Given the description of an element on the screen output the (x, y) to click on. 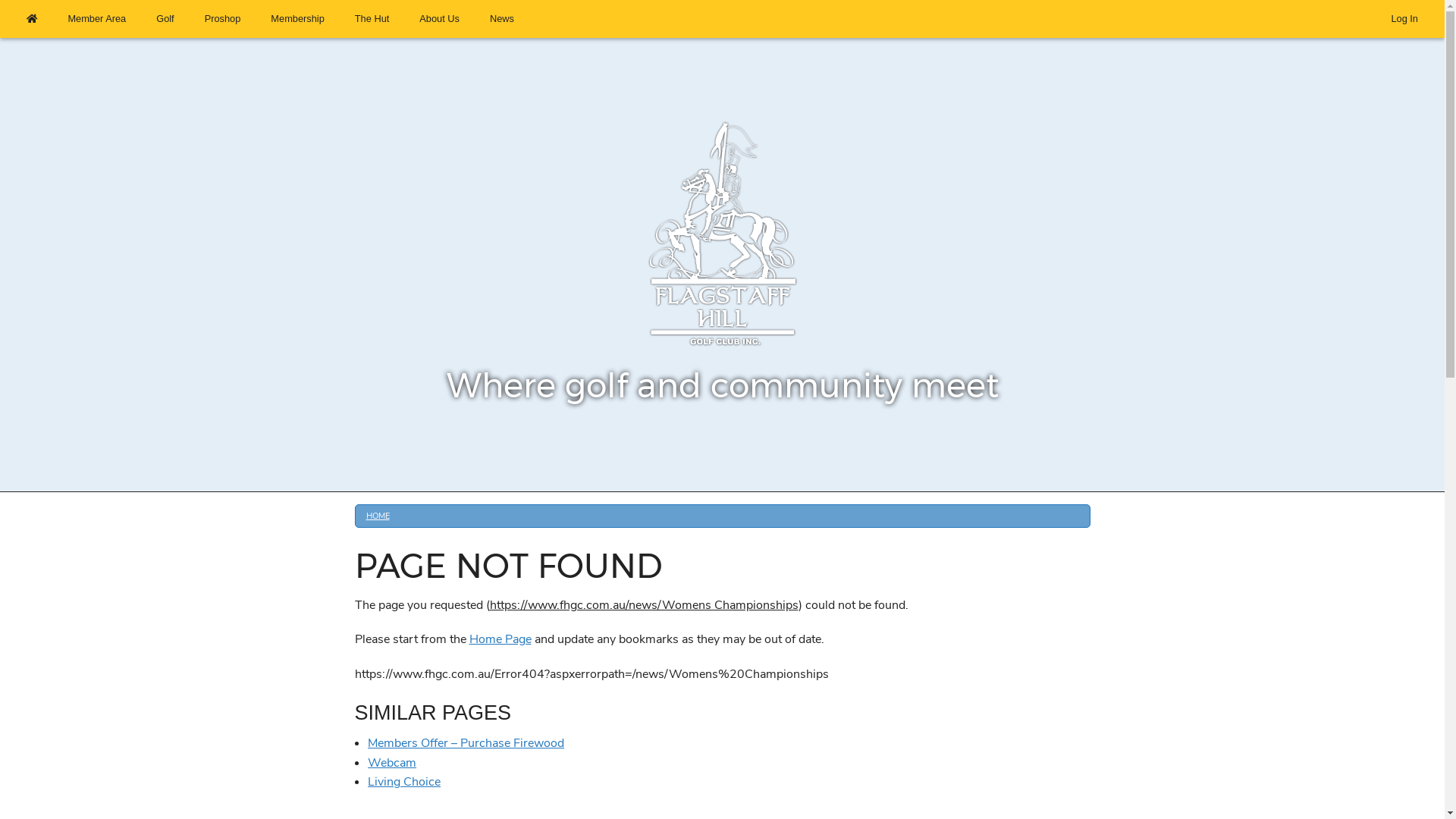
Membership Element type: text (296, 18)
The Hut Element type: text (371, 18)
Proshop Element type: text (222, 18)
Member Area Element type: text (96, 18)
Home Page Element type: text (499, 638)
Golf Element type: text (164, 18)
Webcam Element type: text (391, 762)
News Element type: text (501, 18)
Home Element type: hover (31, 18)
HOME Element type: text (377, 515)
About Us Element type: text (439, 18)
Log In Element type: text (1404, 18)
Living Choice Element type: text (403, 781)
